Given the description of an element on the screen output the (x, y) to click on. 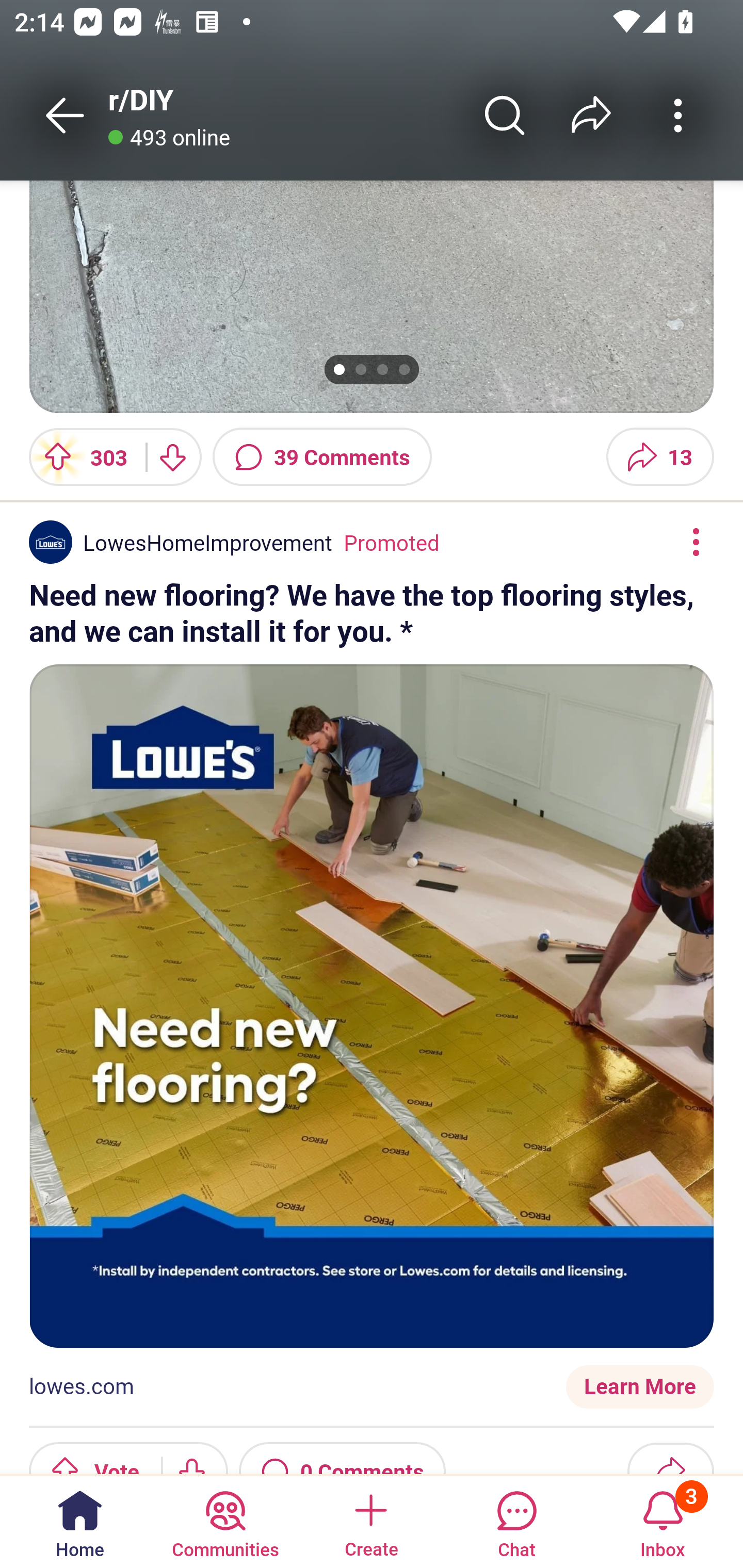
Back (64, 115)
Search r/﻿DIY (504, 115)
Share r/﻿DIY (591, 115)
More community actions (677, 115)
Home (80, 1520)
Communities (225, 1520)
Create a post Create (370, 1520)
Chat (516, 1520)
Inbox, has 3 notifications 3 Inbox (662, 1520)
